Given the description of an element on the screen output the (x, y) to click on. 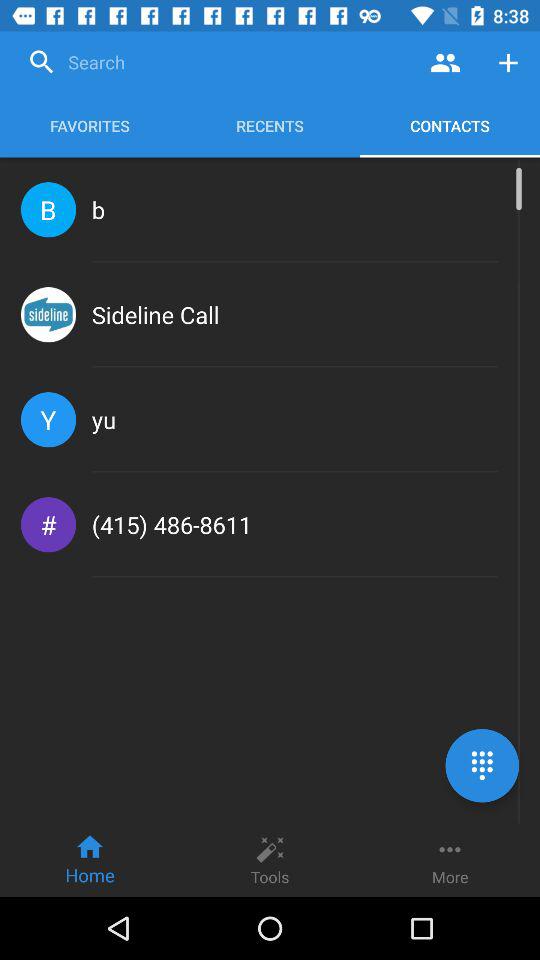
turn on item above the favorites (217, 62)
